Given the description of an element on the screen output the (x, y) to click on. 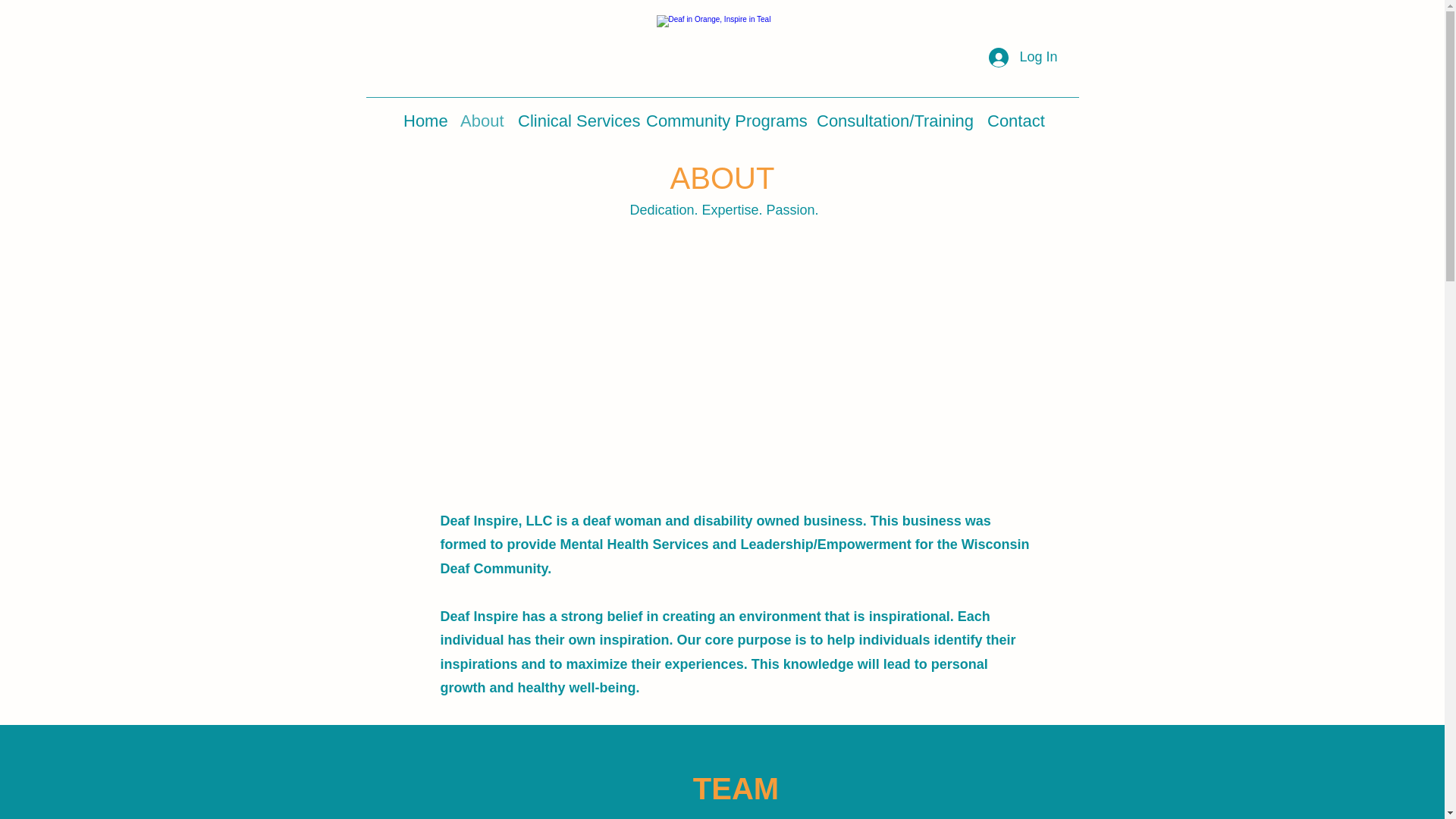
Contact (1013, 117)
Community Programs (724, 117)
Home (424, 117)
Clinical Services (575, 117)
Log In (1022, 57)
About (481, 117)
